Given the description of an element on the screen output the (x, y) to click on. 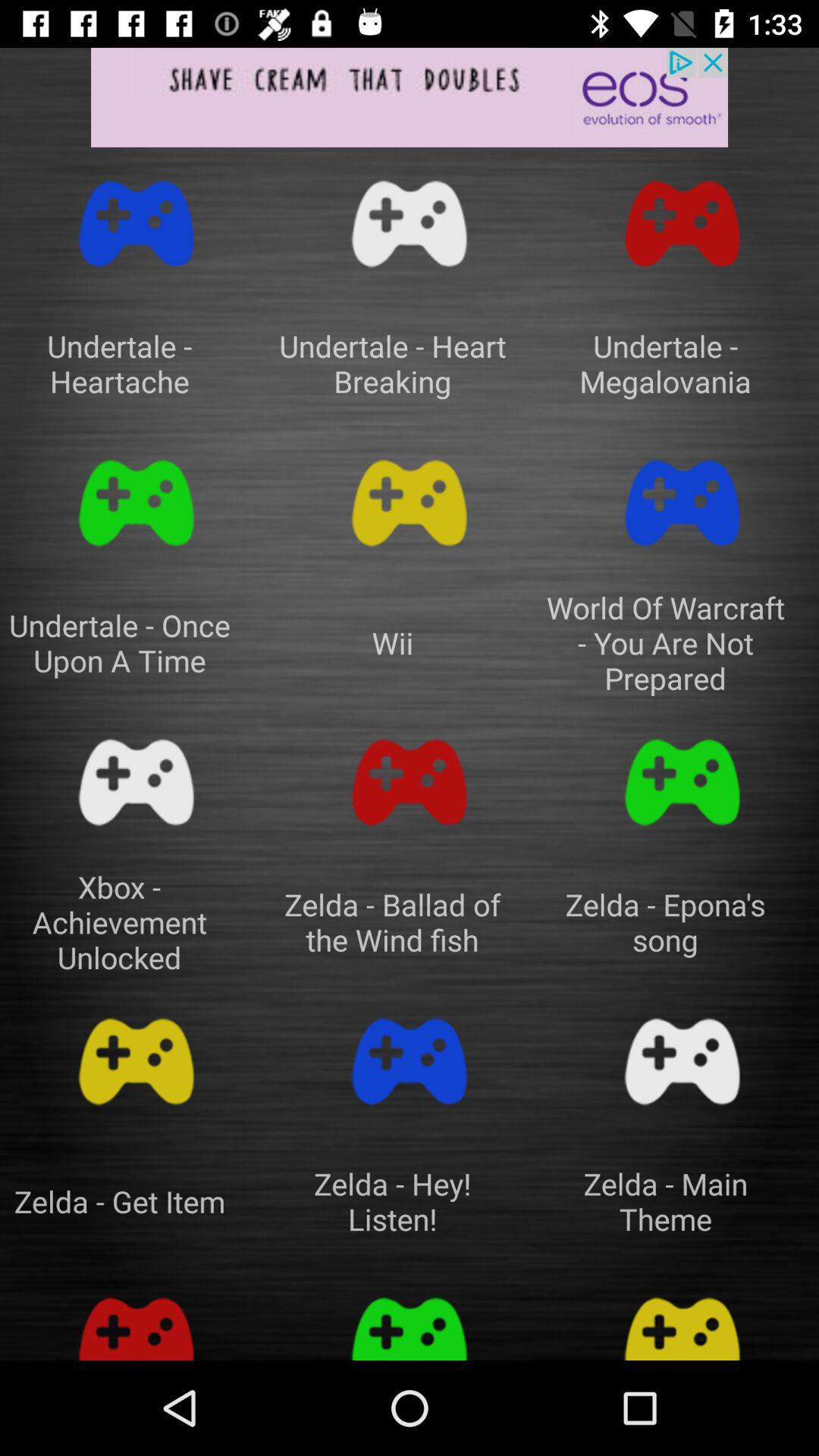
open game (136, 223)
